Given the description of an element on the screen output the (x, y) to click on. 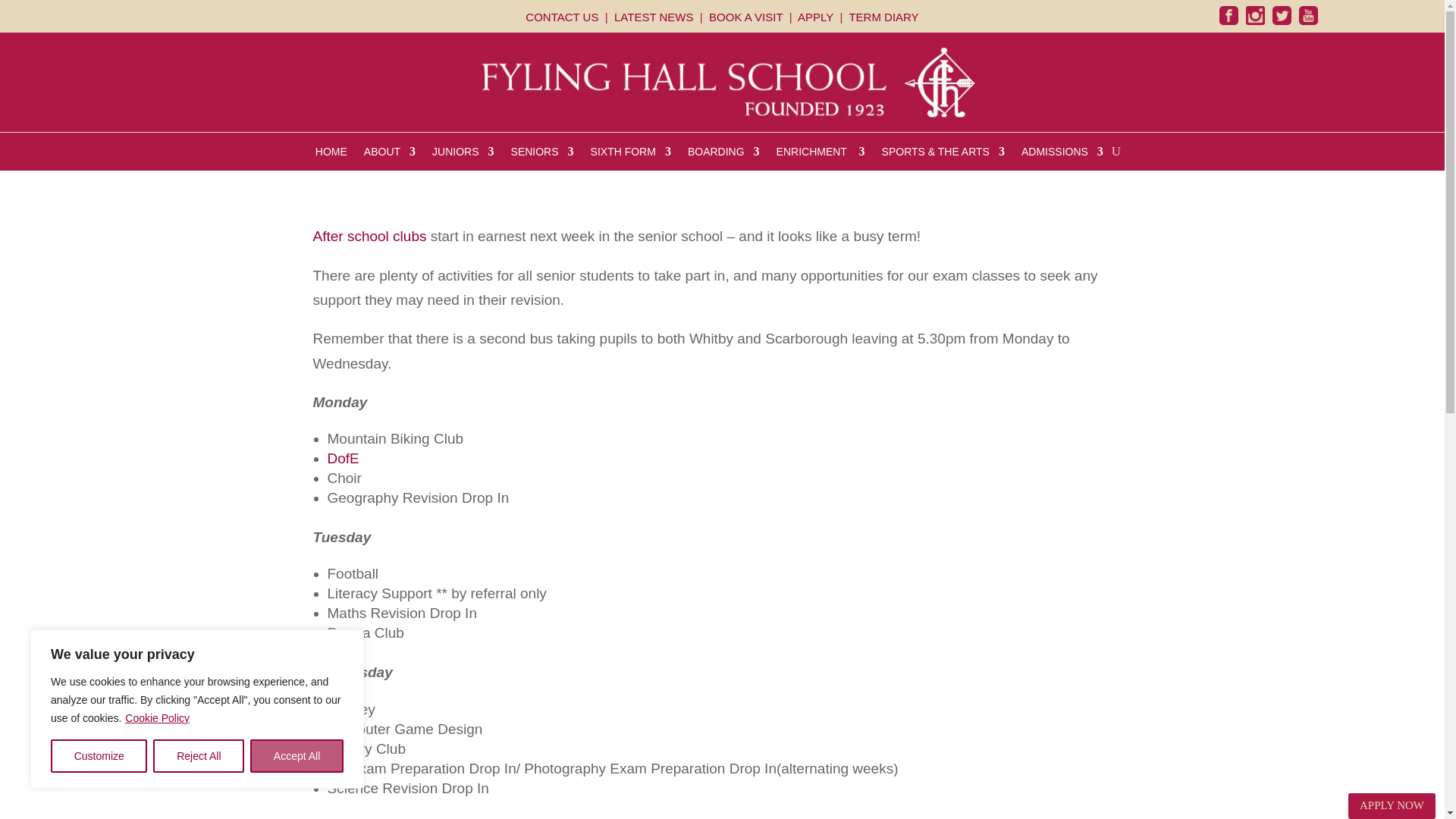
BOOK A VISIT (746, 16)
HOME (331, 154)
LATEST NEWS  (655, 16)
Accept All (296, 756)
TERM DIARY (883, 16)
APPLY  (816, 16)
Cookie Policy (156, 717)
Reject All (198, 756)
fyling-hall-private-school-logo (722, 82)
ABOUT (389, 154)
